Given the description of an element on the screen output the (x, y) to click on. 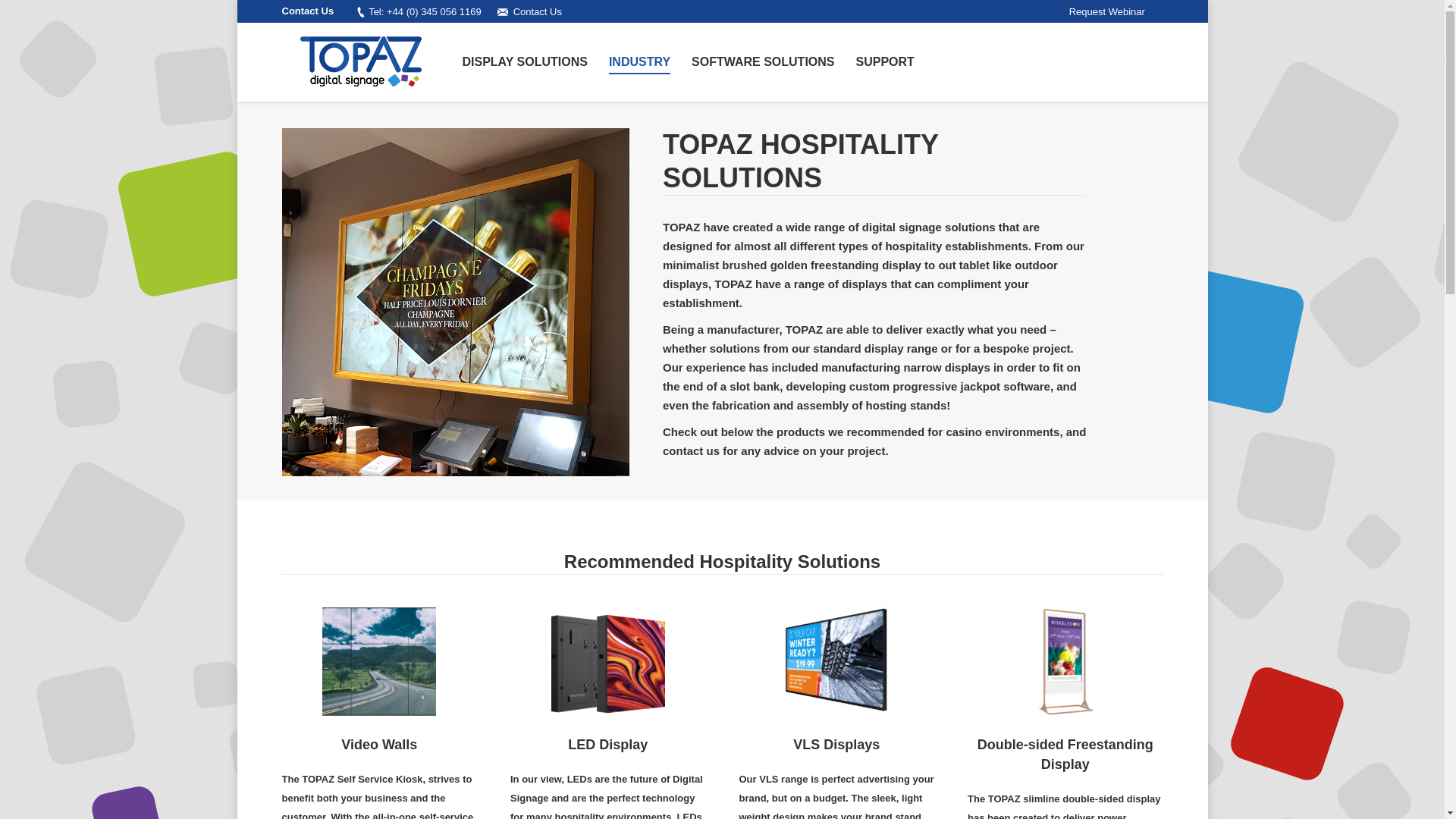
Request Webinar (1106, 11)
LED Module (608, 661)
DISPLAY SOLUTIONS (525, 62)
DS-FS (1065, 661)
Dukes92 VW (456, 301)
VideoWall1 (378, 661)
Contact Us (537, 11)
INDUSTRY (638, 62)
SUPPORT (885, 62)
SOFTWARE SOLUTIONS (762, 62)
